Given the description of an element on the screen output the (x, y) to click on. 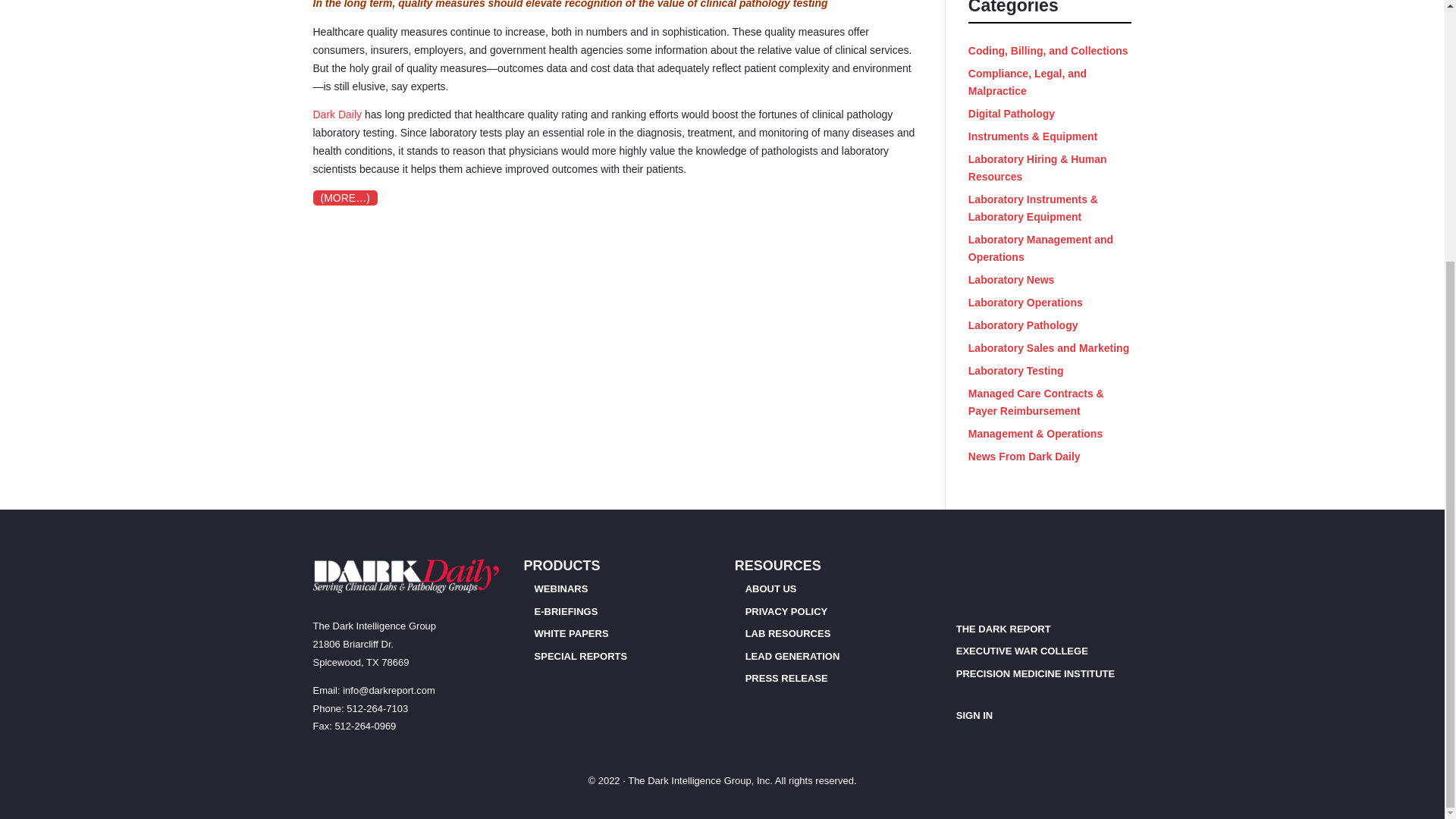
Dark Daily (337, 114)
Coding, Billing, and Collections (1048, 50)
Compliance, Legal, and Malpractice (1027, 82)
